Given the description of an element on the screen output the (x, y) to click on. 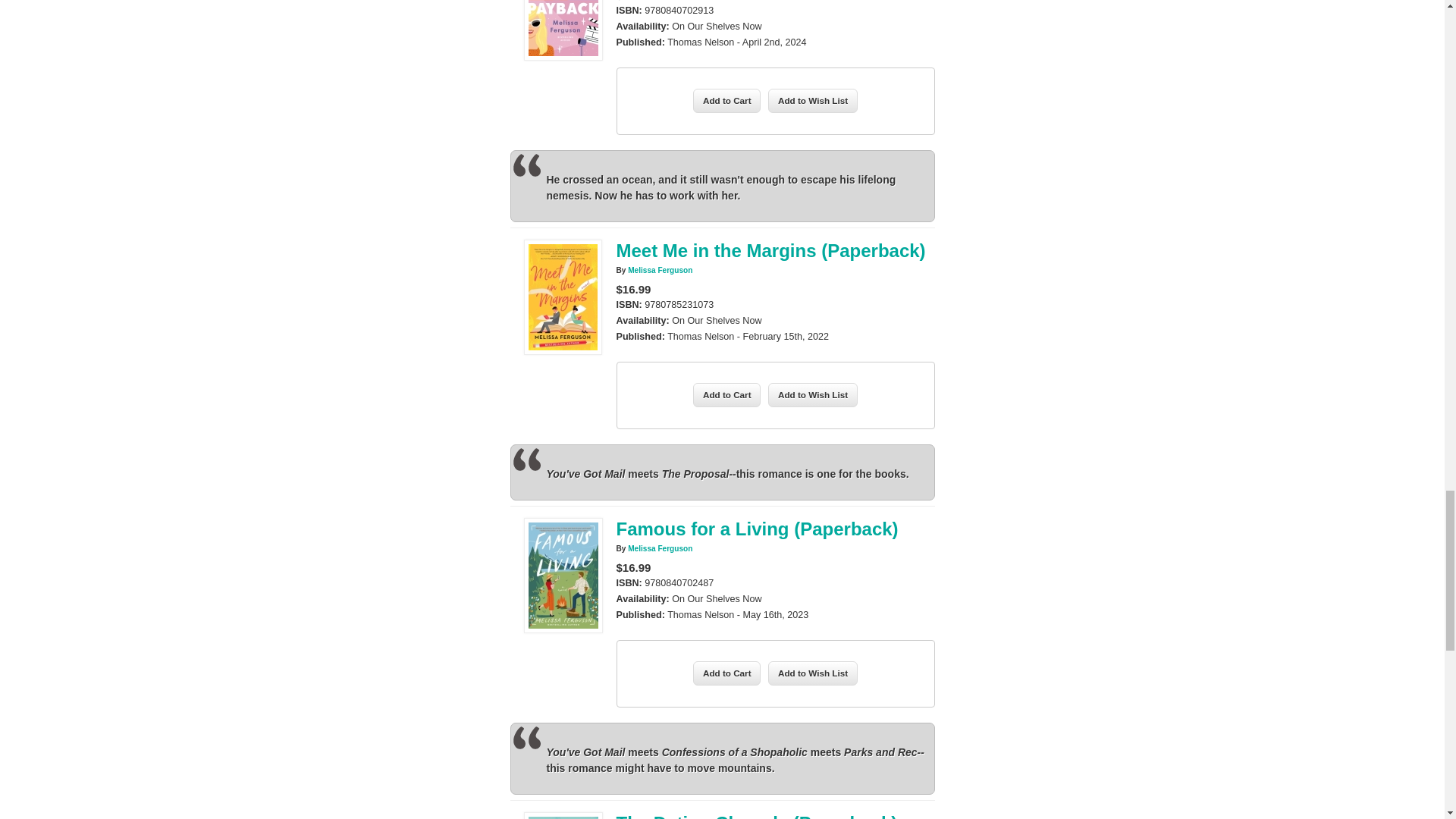
Add to Wish List (812, 100)
Add to Cart (726, 100)
Add to Cart (726, 395)
Add to Cart (726, 672)
Add to Wish List (812, 395)
Add to Wish List (812, 672)
